Given the description of an element on the screen output the (x, y) to click on. 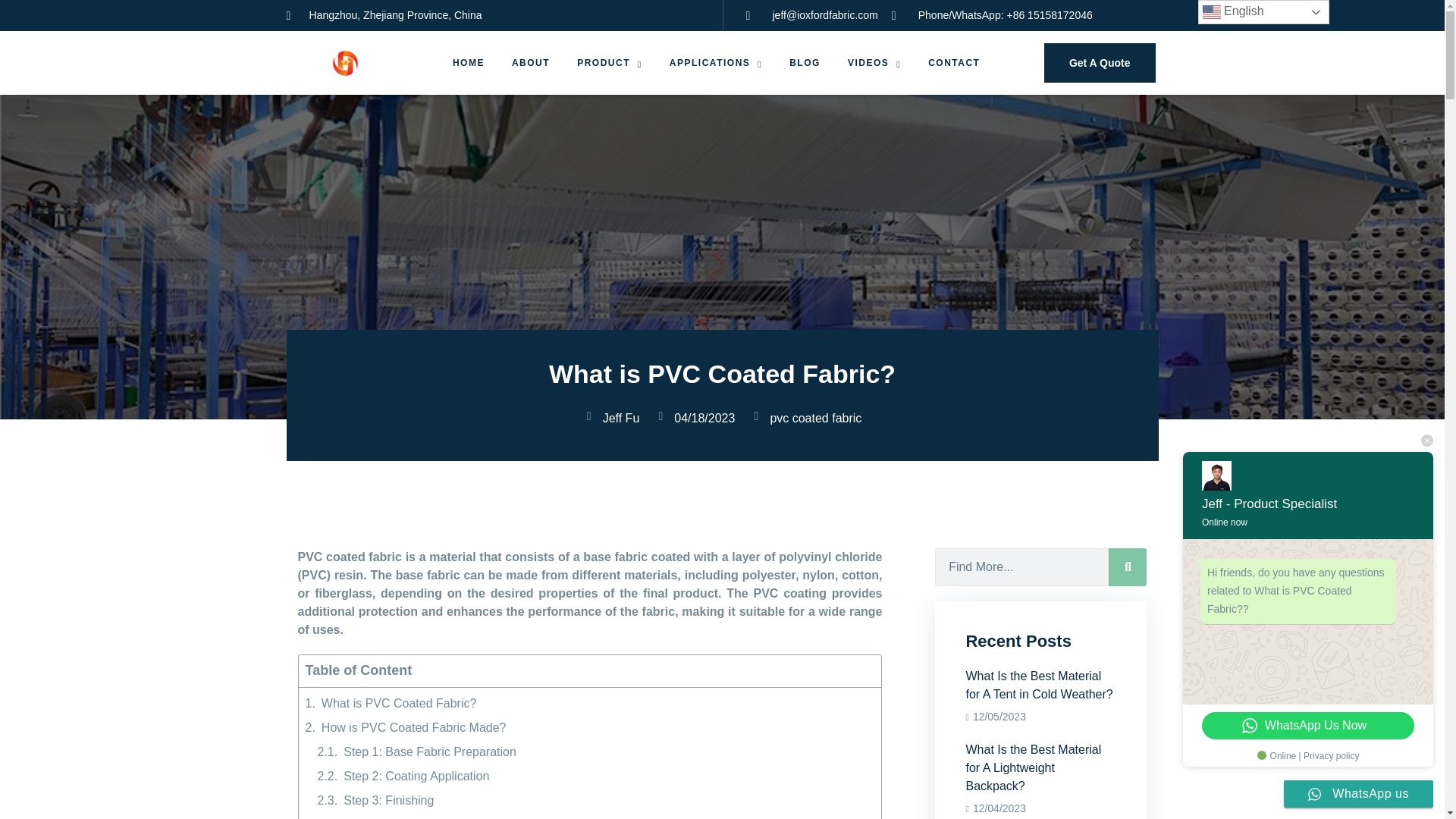
Jeff Fu (617, 423)
ABOUT (530, 63)
HOME (468, 63)
Hangzhou, Zhejiang Province, China (716, 63)
PRODUCT (500, 15)
pvc coated fabric (609, 63)
Recent Posts (811, 423)
Get A Quote (1040, 641)
What is PVC Coated Fabric? (1090, 62)
